Given the description of an element on the screen output the (x, y) to click on. 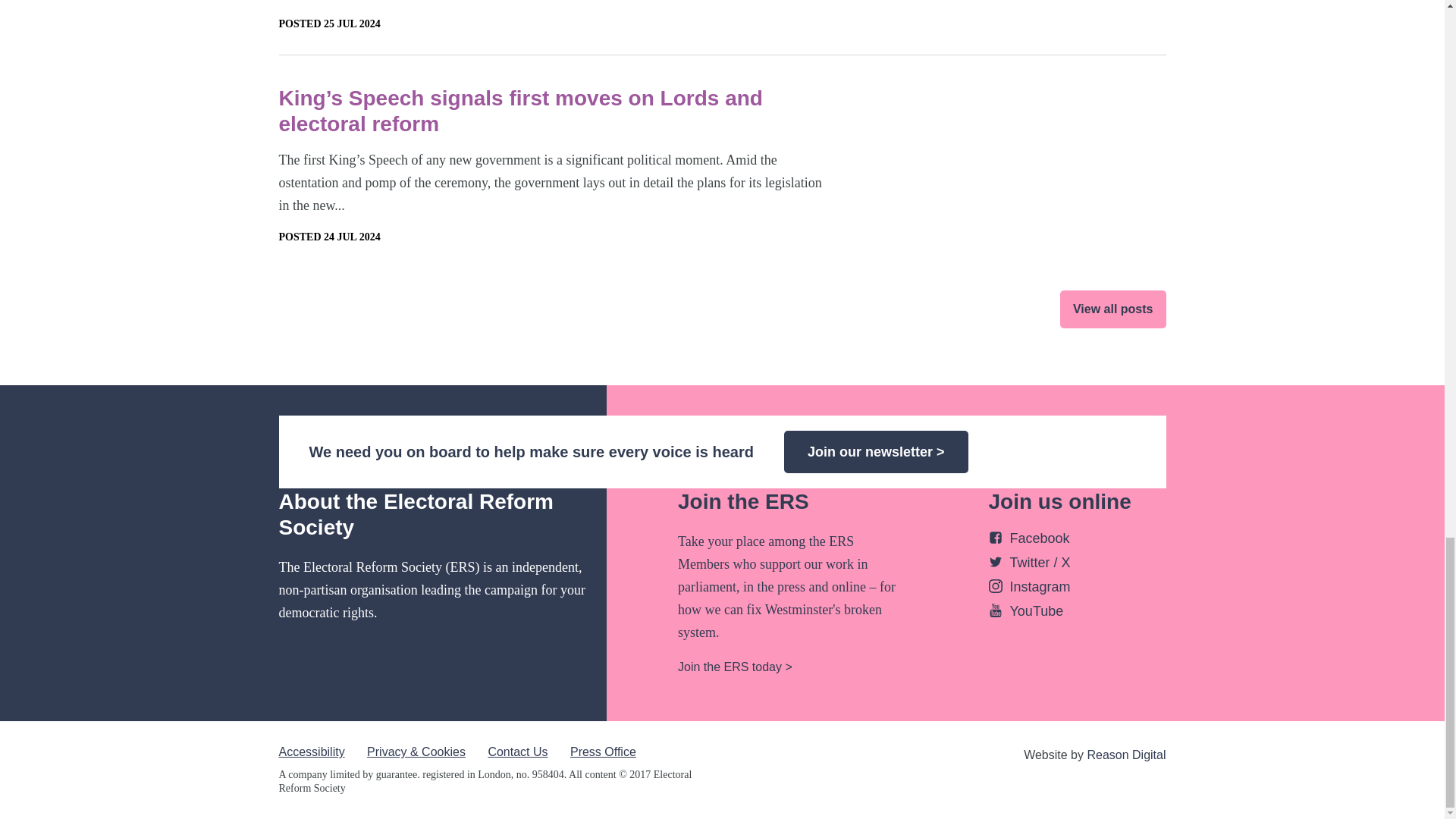
Instagram (1029, 586)
YouTube (1026, 611)
Facebook (1029, 538)
